Given the description of an element on the screen output the (x, y) to click on. 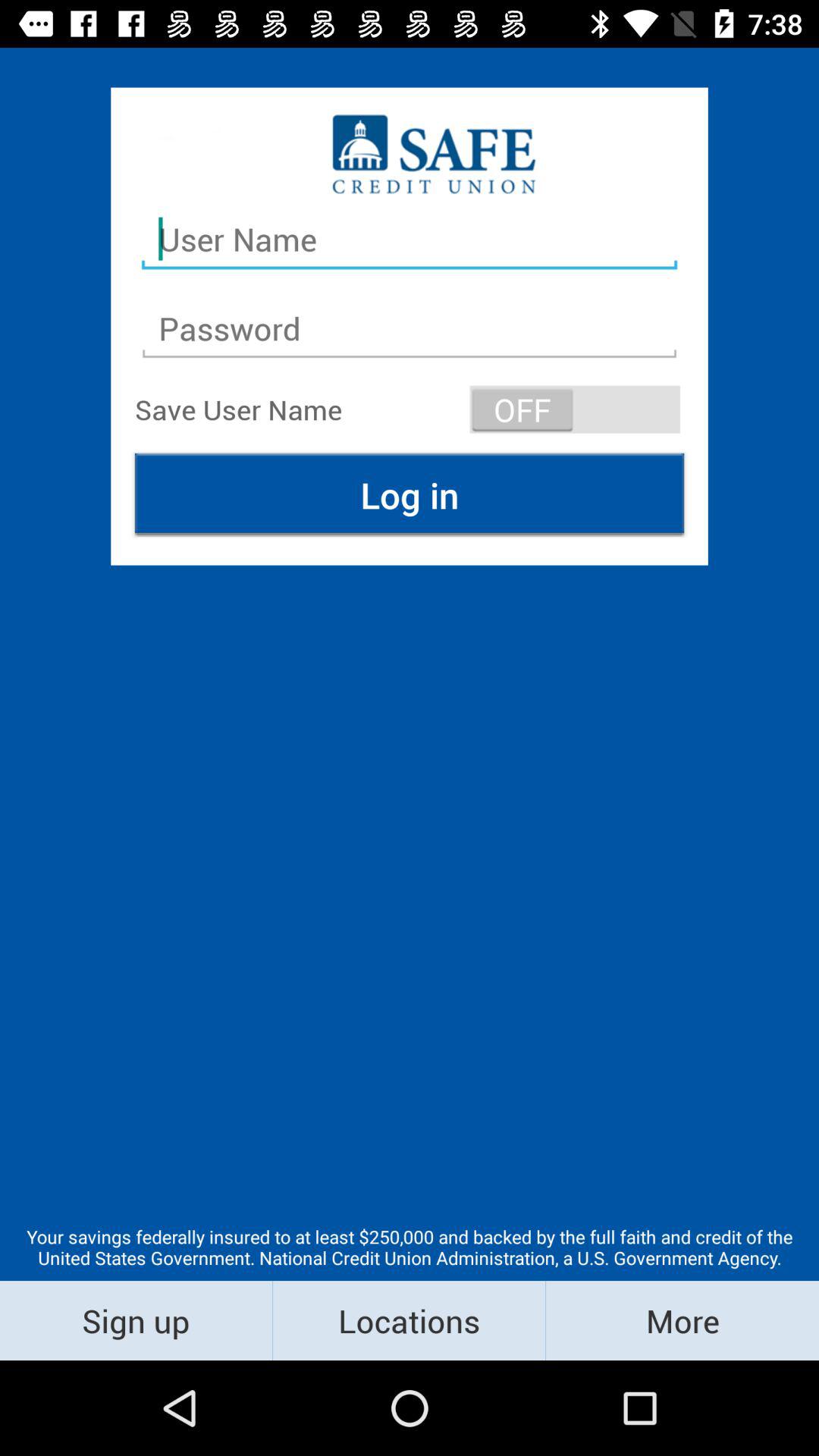
tap icon above the your savings federally (409, 494)
